Given the description of an element on the screen output the (x, y) to click on. 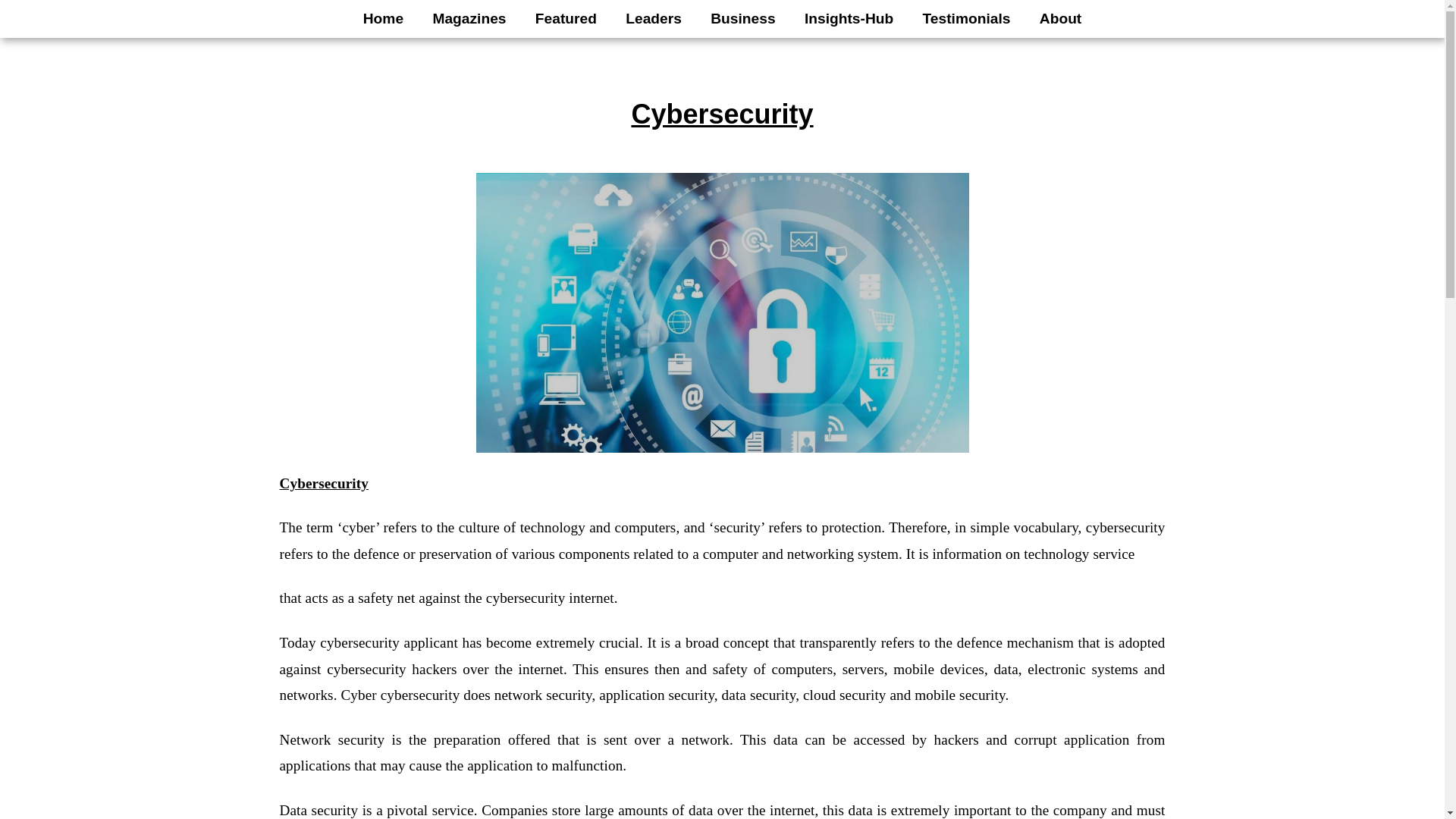
Magazines (468, 18)
Home (384, 18)
Insights-Hub (849, 18)
Leaders (653, 18)
About (1060, 18)
Featured (566, 18)
Business (742, 18)
Testimonials (966, 18)
